Given the description of an element on the screen output the (x, y) to click on. 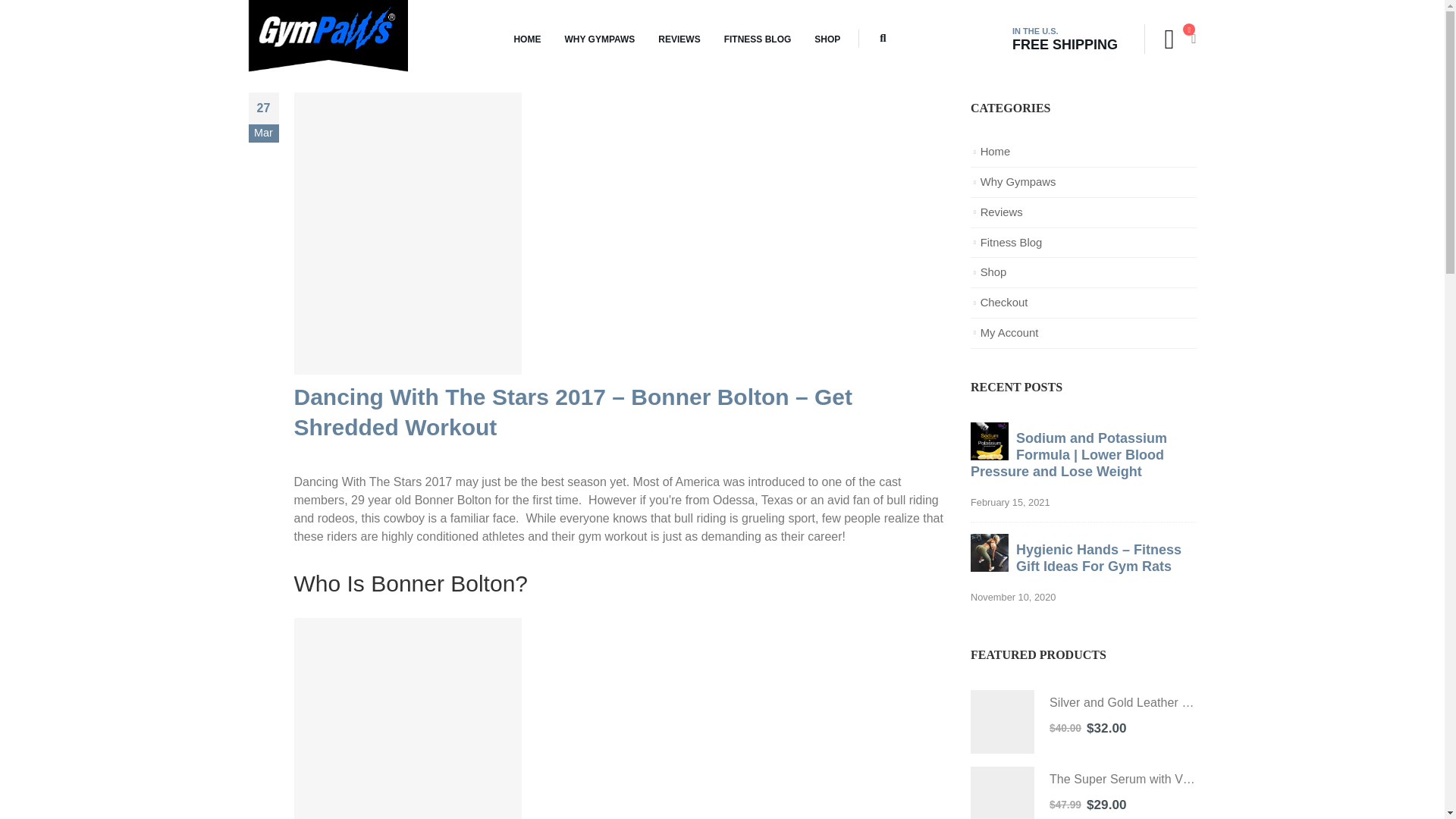
Why Gympaws (1018, 182)
Home (994, 151)
The Super Serum with Vitamin C (1002, 792)
SHOP (827, 38)
Checkout (1003, 302)
My Account (1009, 332)
REVIEWS (678, 38)
Fitness Blog (1010, 242)
Shop (993, 272)
WHY GYMPAWS (599, 38)
